Given the description of an element on the screen output the (x, y) to click on. 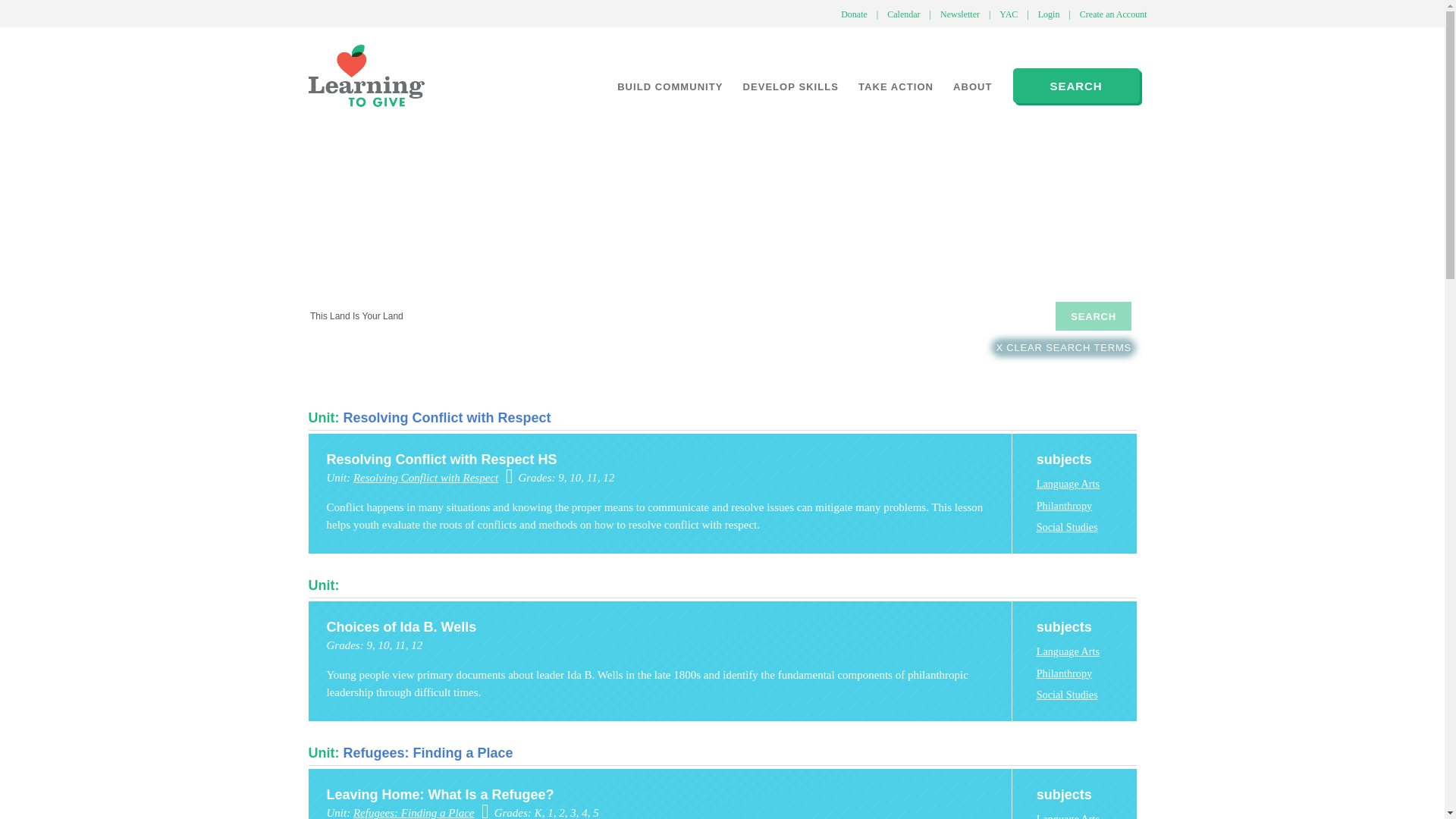
Calendar (903, 14)
Click on "About" to learn more about Learning to Give (973, 86)
Submit (97, 285)
Search (1093, 316)
DEVELOP SKILLS (790, 86)
YAC (1008, 14)
Newsletter (960, 14)
Learn more about philanthropy and civics (790, 86)
BUILD COMMUNITY (669, 86)
X Clear Search Terms (1063, 347)
TAKE ACTION (895, 86)
Resolving Conflict with Respect (446, 417)
ABOUT (973, 86)
Learning to Give (365, 76)
Search (1093, 316)
